Given the description of an element on the screen output the (x, y) to click on. 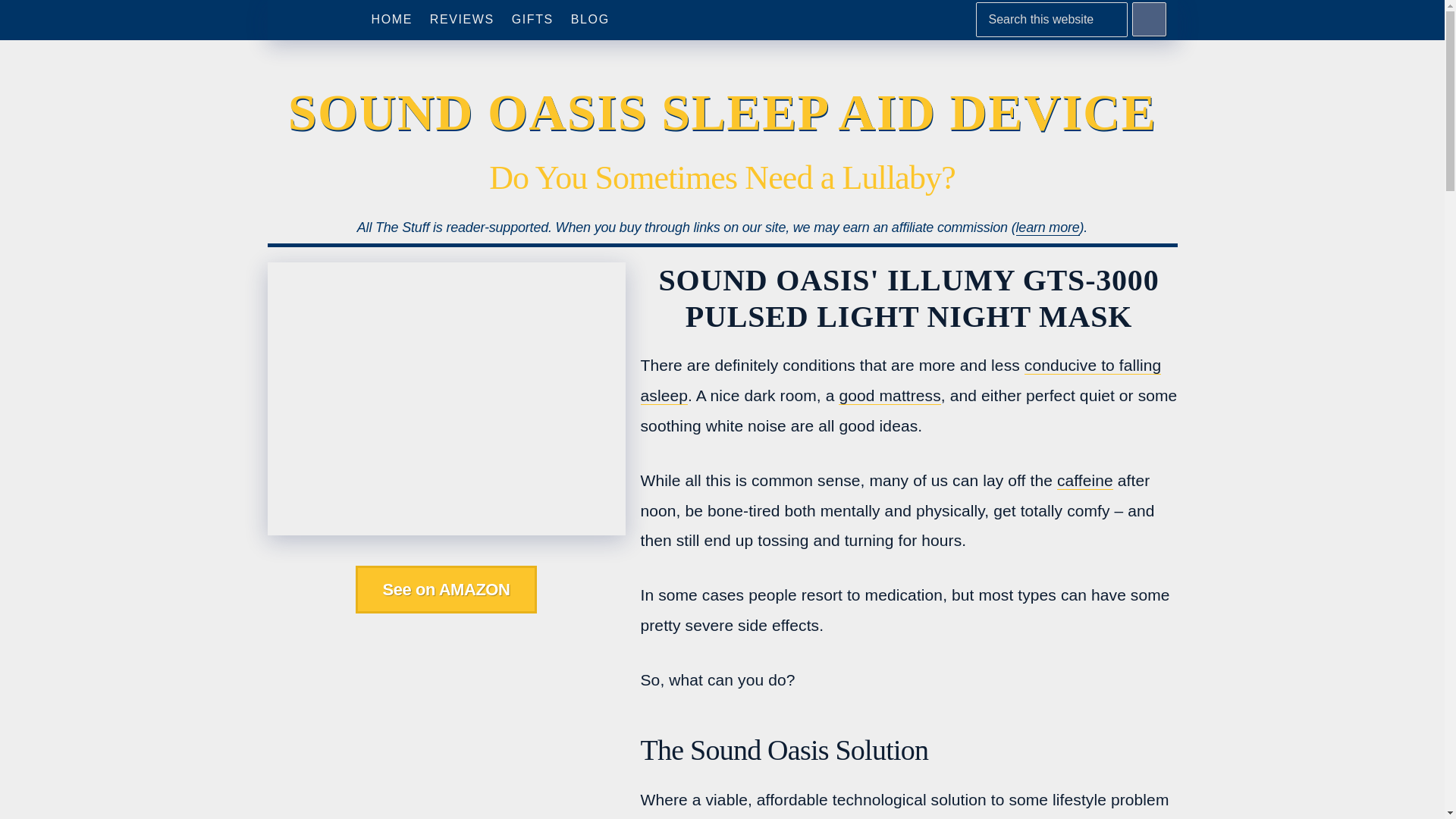
HOME (391, 19)
All The Stuff (305, 20)
REVIEWS (462, 19)
